Given the description of an element on the screen output the (x, y) to click on. 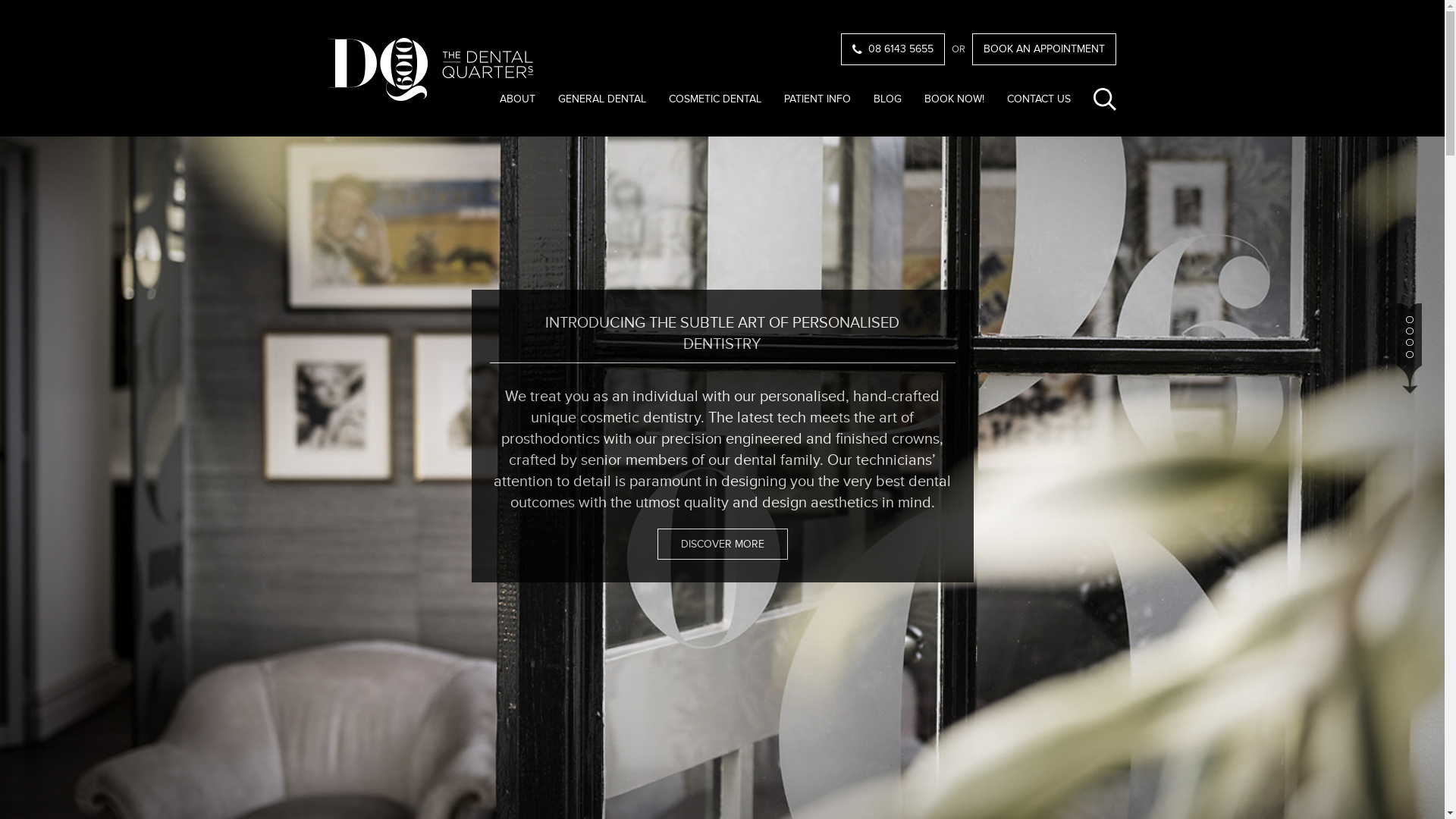
ABOUT Element type: text (516, 102)
Search Element type: text (1074, 152)
GENERAL DENTAL Element type: text (602, 102)
DISCOVER MORE Element type: text (721, 544)
BLOG Element type: text (887, 102)
COSMETIC DENTAL Element type: text (714, 102)
08 6143 5655 Element type: text (892, 49)
BOOK AN APPOINTMENT Element type: text (1044, 49)
Search Element type: hover (1104, 98)
BOOK NOW! Element type: text (953, 102)
CONTACT US Element type: text (1038, 102)
PATIENT INFO Element type: text (817, 102)
